Given the description of an element on the screen output the (x, y) to click on. 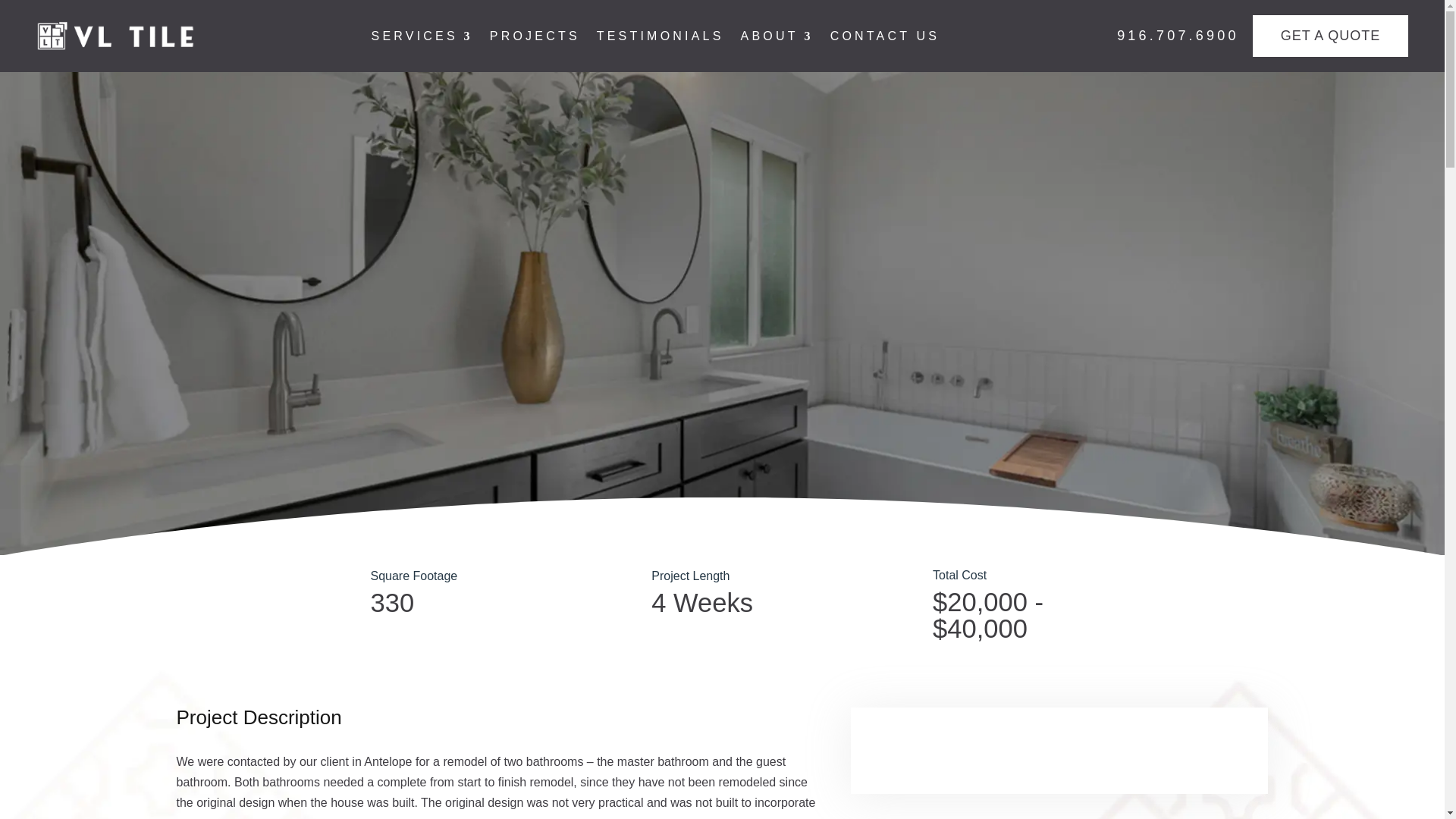
SERVICES (422, 38)
916.707.6900 (1184, 35)
CONTACT US (884, 38)
ABOUT (777, 38)
TESTIMONIALS (659, 38)
PROJECTS (534, 38)
GET A QUOTE (1330, 35)
